Given the description of an element on the screen output the (x, y) to click on. 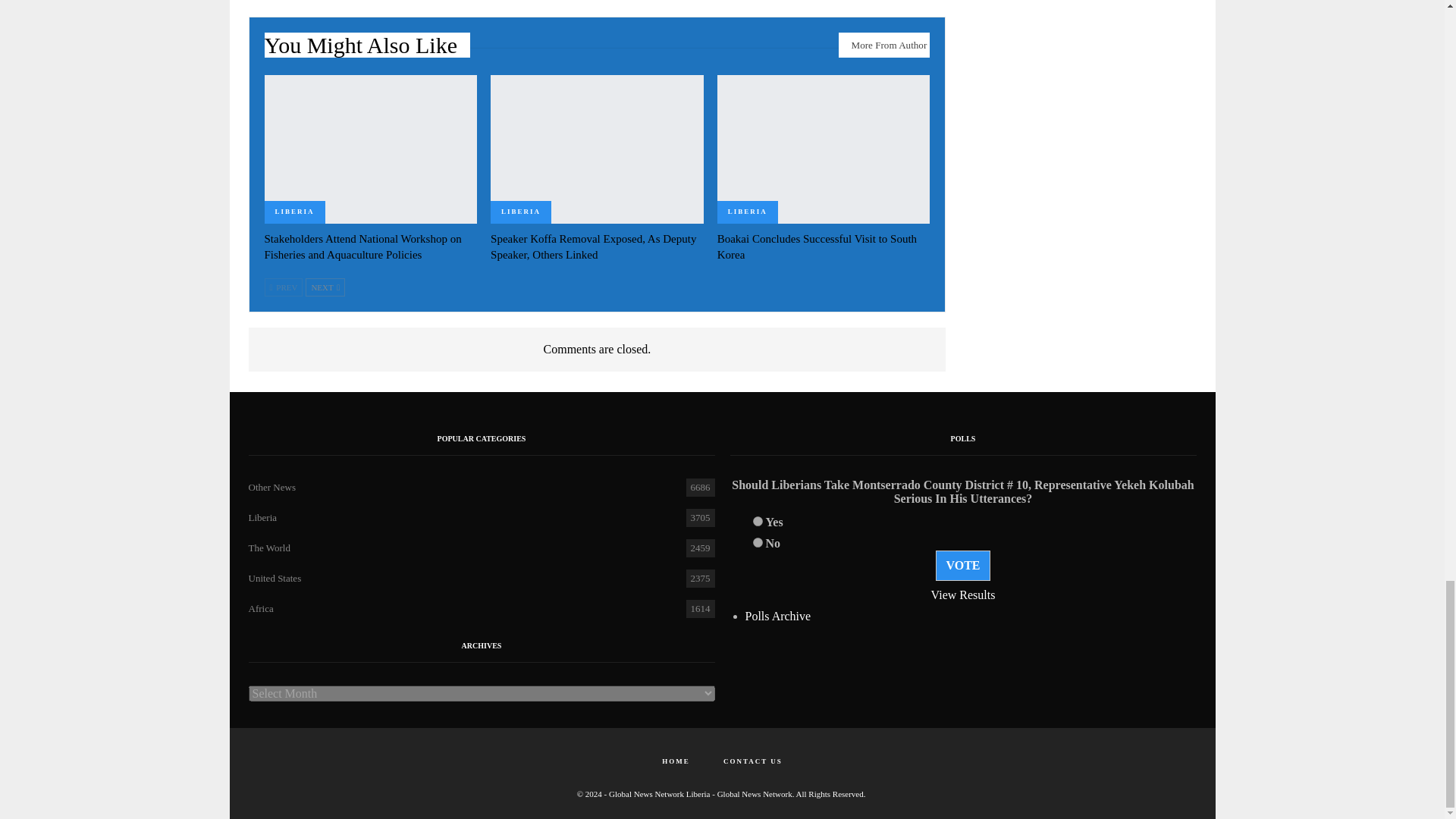
376 (756, 521)
View Results Of This Poll (963, 594)
Next (325, 287)
LIBERIA (293, 211)
More From Author (884, 43)
You Might Also Like (366, 48)
Boakai Concludes Successful Visit to South Korea (817, 246)
